Given the description of an element on the screen output the (x, y) to click on. 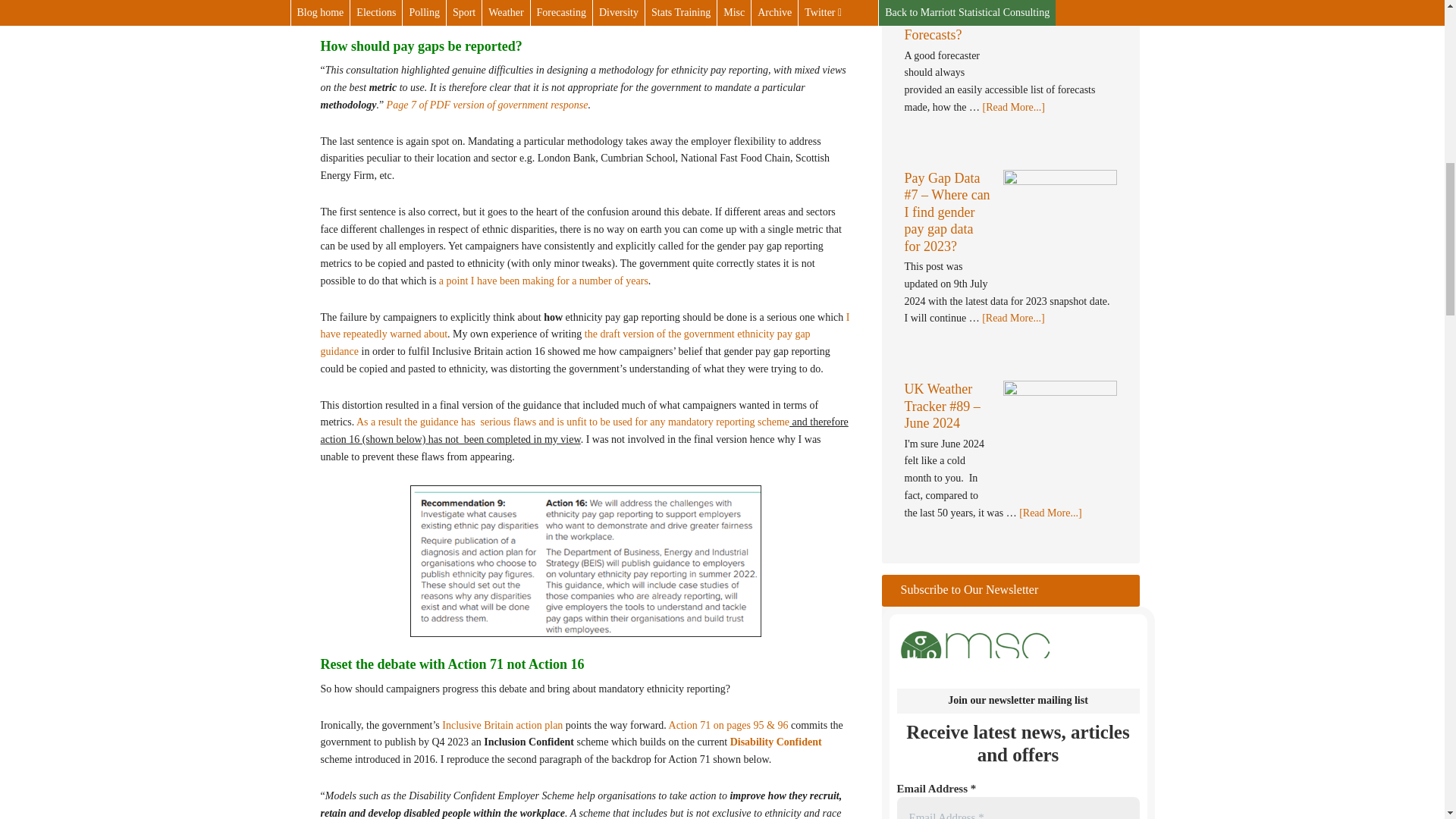
Page 7 of PDF version of government response (487, 104)
I have repeatedly warned about (584, 325)
Inclusive Britain action plan (502, 725)
Email Address (1017, 807)
Disability Confident (776, 741)
a point I have been making for a number of years (543, 280)
